Given the description of an element on the screen output the (x, y) to click on. 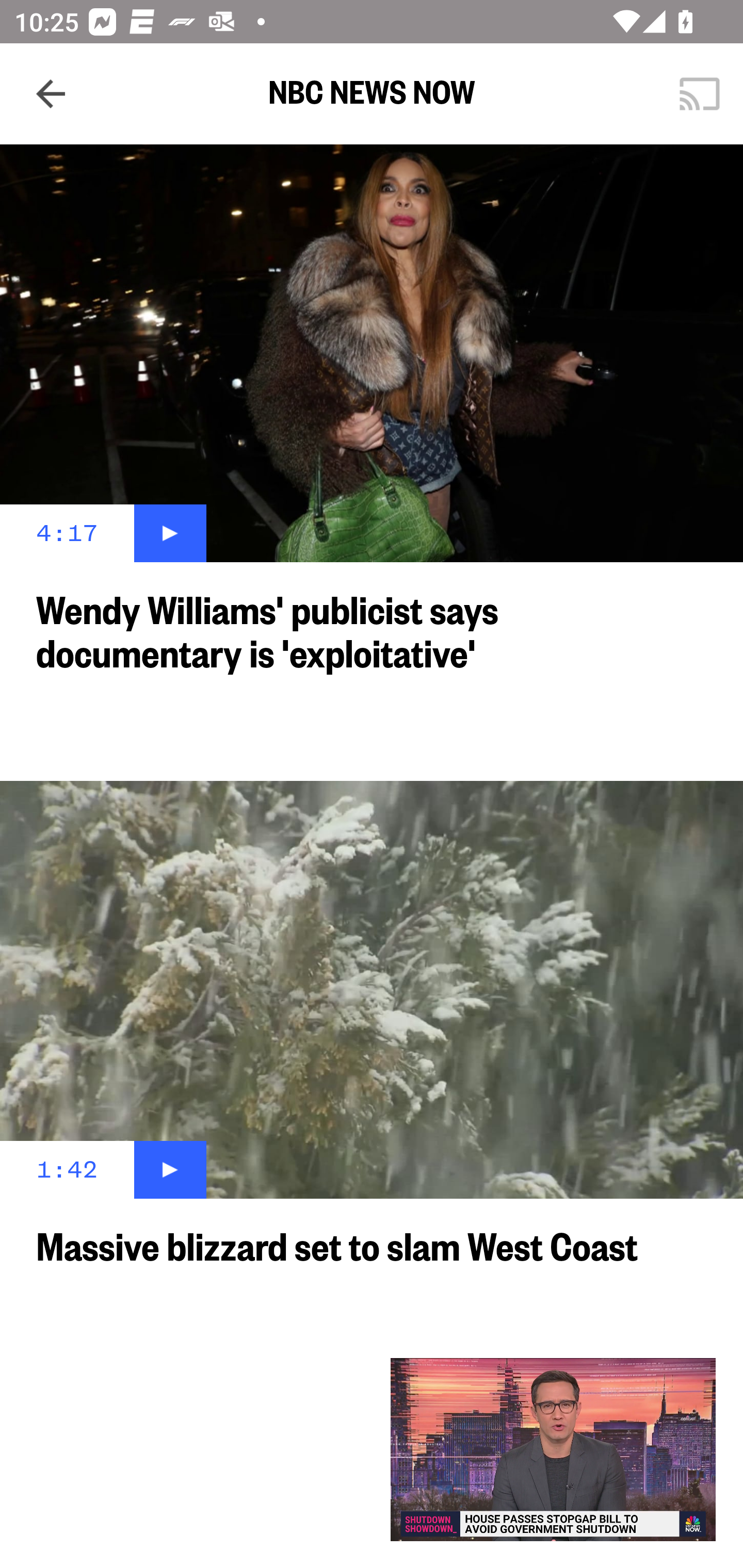
Navigate up (50, 93)
Cast. Disconnected (699, 93)
